Given the description of an element on the screen output the (x, y) to click on. 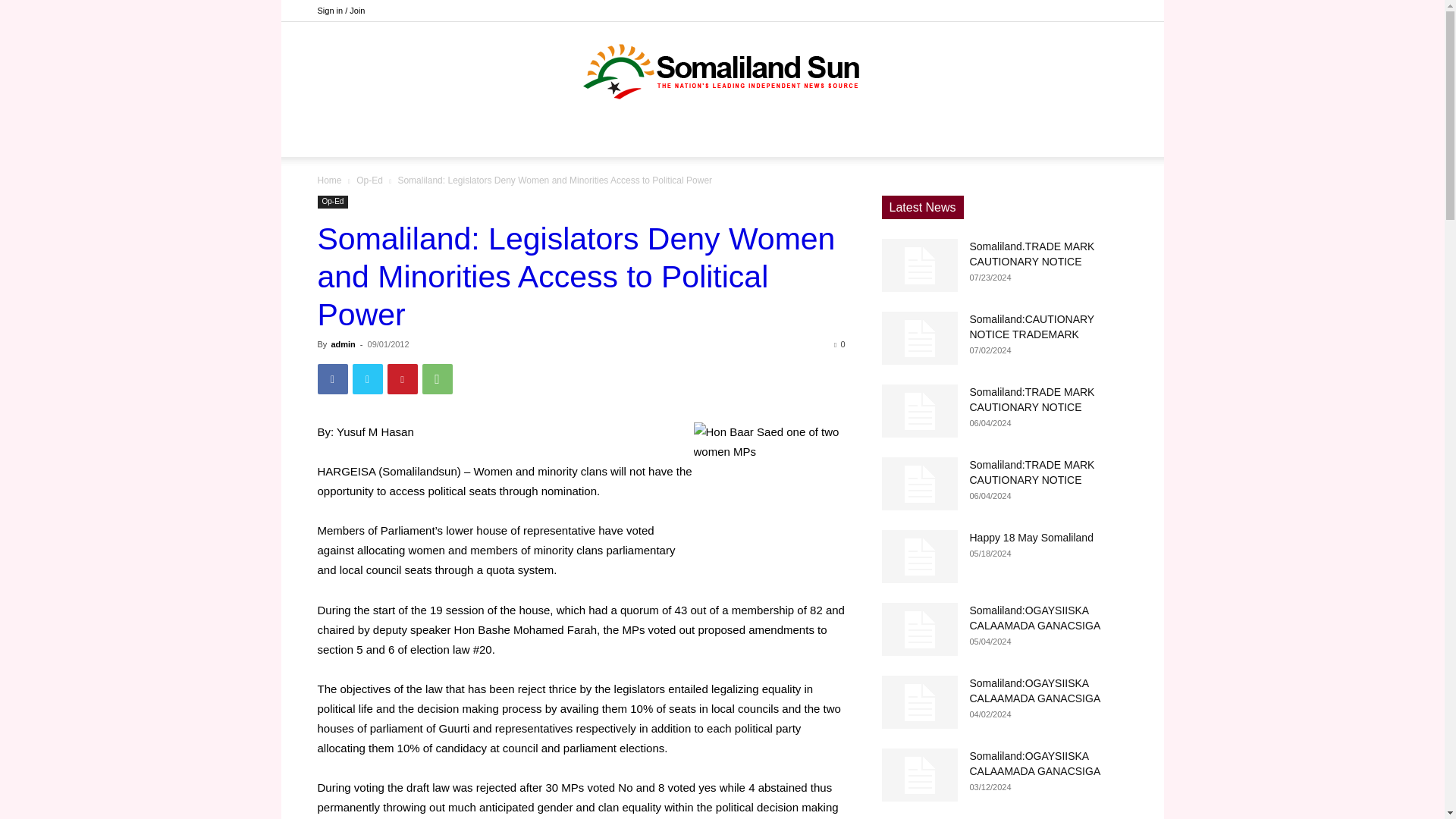
Somaliland Sun (722, 71)
DONOR NEWS (531, 138)
HOME (450, 138)
NEWS (617, 138)
